Given the description of an element on the screen output the (x, y) to click on. 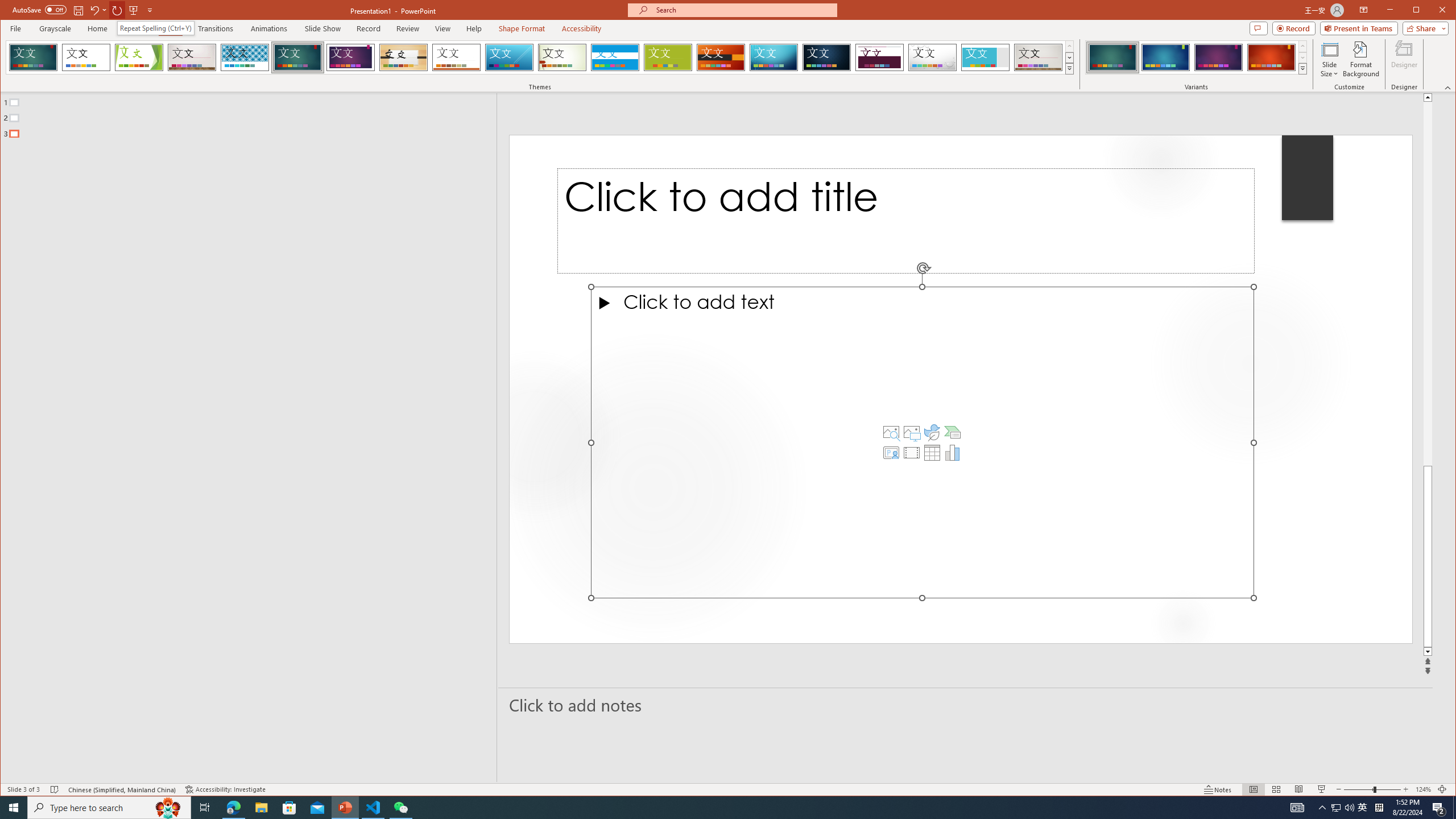
Repeat Spelling (Ctrl+Y) (155, 28)
Slide Size (1328, 59)
Zoom 124% (1422, 789)
AutomationID: ThemeVariantsGallery (1196, 57)
Insert Table (931, 452)
Ion Variant 2 (1165, 57)
Retrospect (456, 57)
Frame (985, 57)
